Given the description of an element on the screen output the (x, y) to click on. 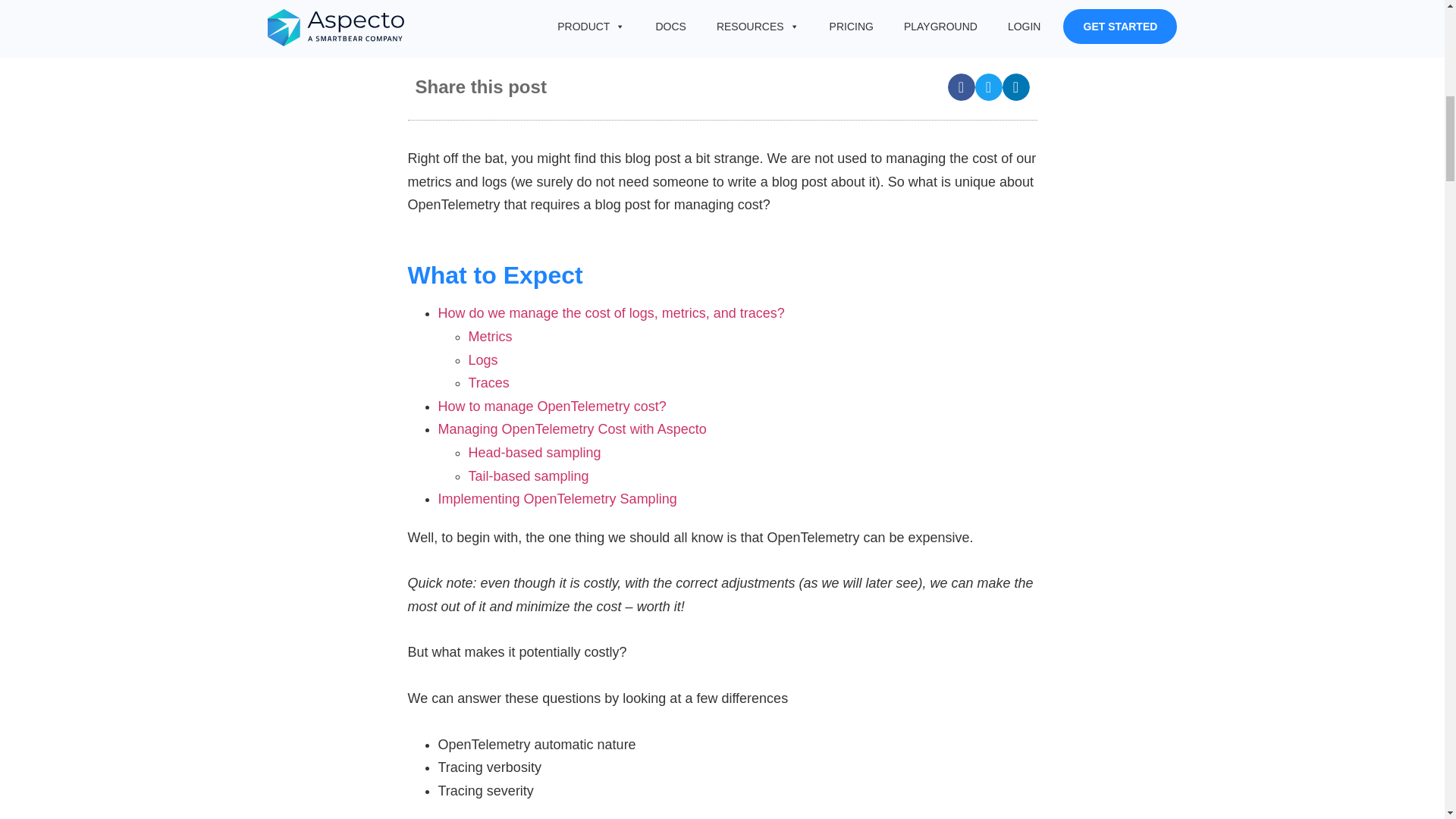
How do we manage the cost of logs, metrics, and traces? (611, 313)
Tail-based sampling (528, 476)
Metrics (490, 336)
How to manage OpenTelemetry cost? (552, 406)
Traces (488, 382)
Head-based sampling (534, 452)
Managing OpenTelemetry Cost with Aspecto (572, 428)
Logs (482, 359)
Implementing OpenTelemetry Sampling (557, 498)
